Given the description of an element on the screen output the (x, y) to click on. 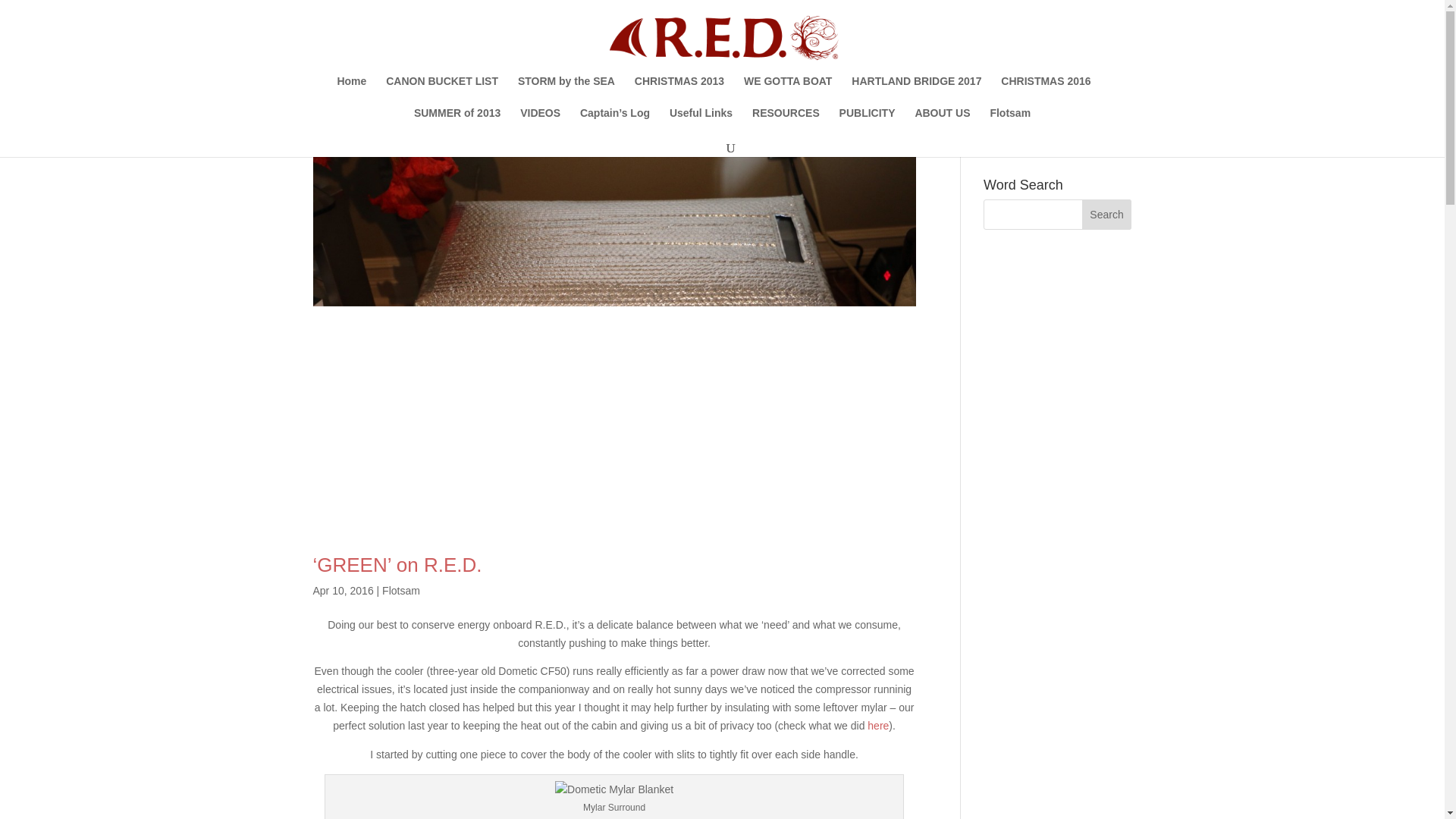
RESOURCES (785, 123)
ABOUT US (941, 123)
HARTLAND BRIDGE 2017 (916, 91)
here (877, 725)
Home (351, 91)
CHRISTMAS 2016 (1045, 91)
VIDEOS (539, 123)
Flotsam (400, 590)
PUBLICITY (867, 123)
WE GOTTA BOAT (787, 91)
CHRISTMAS 2013 (678, 91)
STORM by the SEA (566, 91)
SUMMER of 2013 (456, 123)
Search (1106, 214)
Useful Links (700, 123)
